Given the description of an element on the screen output the (x, y) to click on. 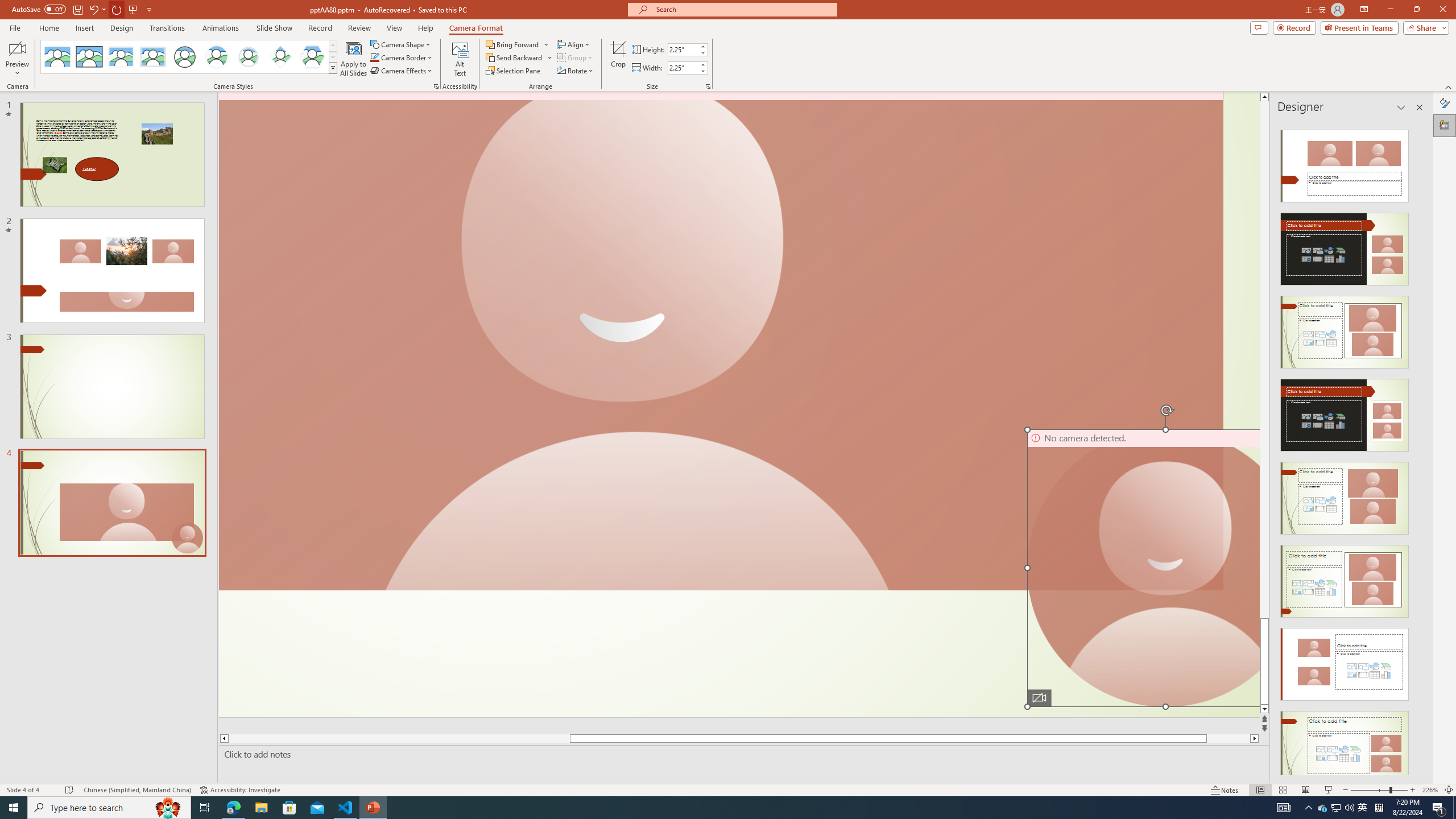
Rotate (575, 69)
Soft Edge Circle (248, 56)
Selection Pane... (513, 69)
